Given the description of an element on the screen output the (x, y) to click on. 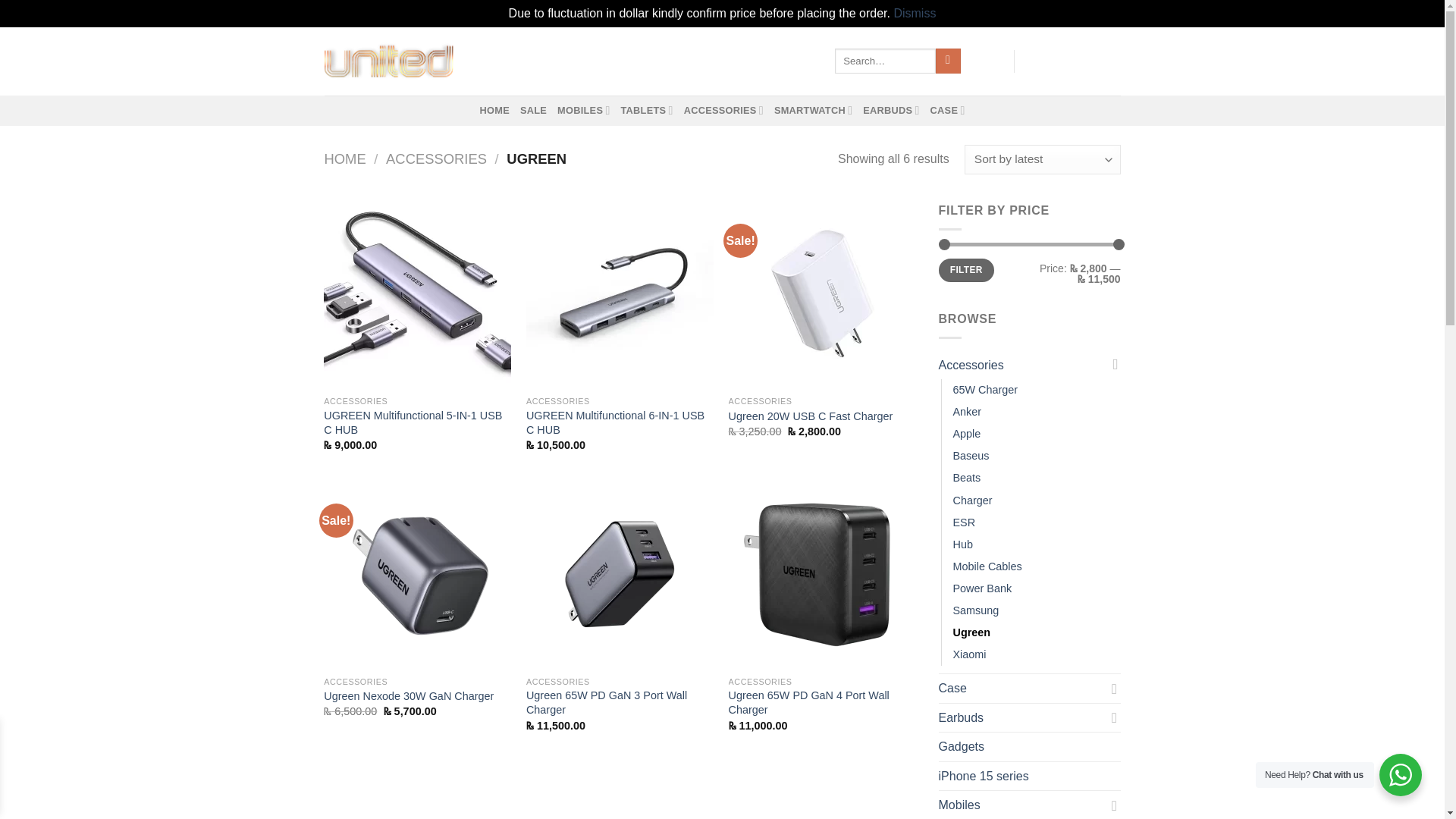
SMARTWATCH (812, 110)
Cart (1072, 61)
Search (948, 61)
Dismiss (914, 12)
LOGIN (987, 61)
Login (987, 61)
ACCESSORIES (723, 110)
HOME (494, 110)
MOBILES (583, 110)
TABLETS (646, 110)
